Given the description of an element on the screen output the (x, y) to click on. 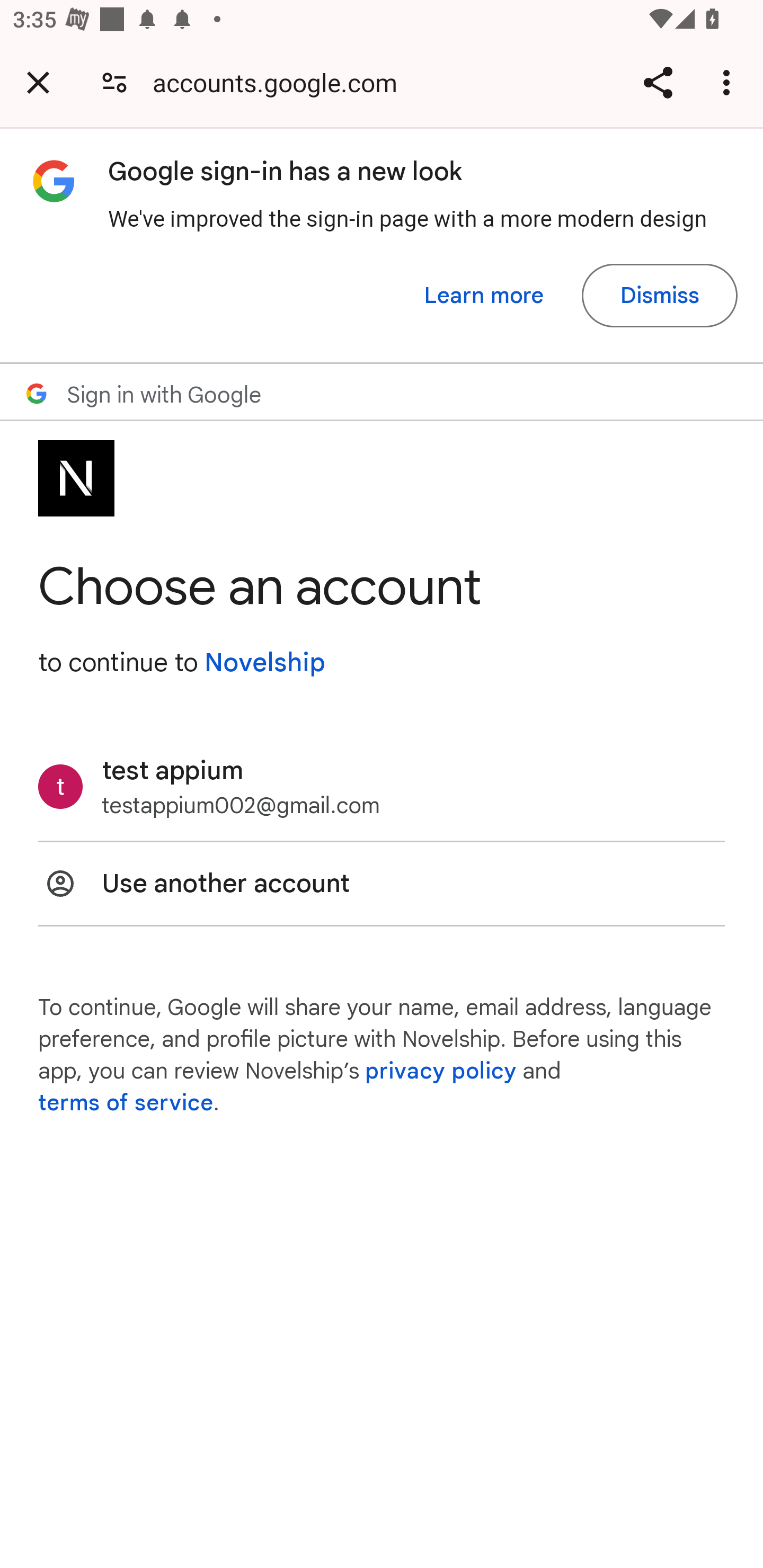
Close tab (38, 82)
Share (657, 82)
Customize and control Google Chrome (729, 82)
Connection is secure (114, 81)
accounts.google.com (281, 81)
Learn more (483, 295)
Dismiss (659, 295)
Novelship (264, 662)
Use another account (381, 883)
privacy policy (440, 1070)
terms of service (126, 1102)
